Given the description of an element on the screen output the (x, y) to click on. 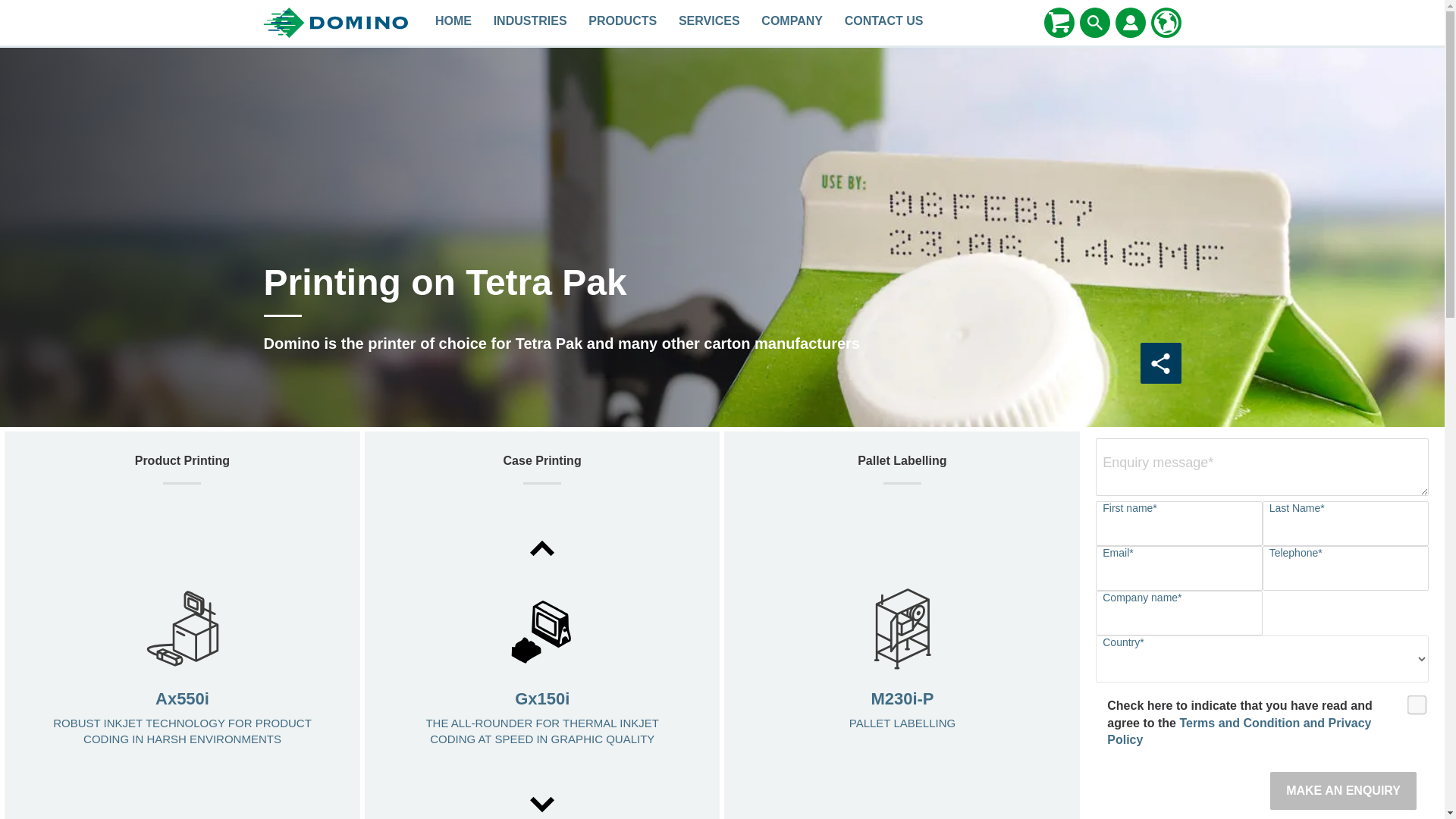
products (623, 22)
on (1411, 700)
Company (791, 22)
Change Region (1165, 22)
HOME (454, 22)
industries (529, 22)
Search (1094, 22)
contact us (882, 22)
MyDomino Portals (1129, 22)
Industrial Printers, Coders and Markers (454, 22)
Services (709, 22)
BuyDomino (1058, 22)
Search (1094, 22)
BuyDomino (1058, 22)
Change Region (1165, 22)
